Given the description of an element on the screen output the (x, y) to click on. 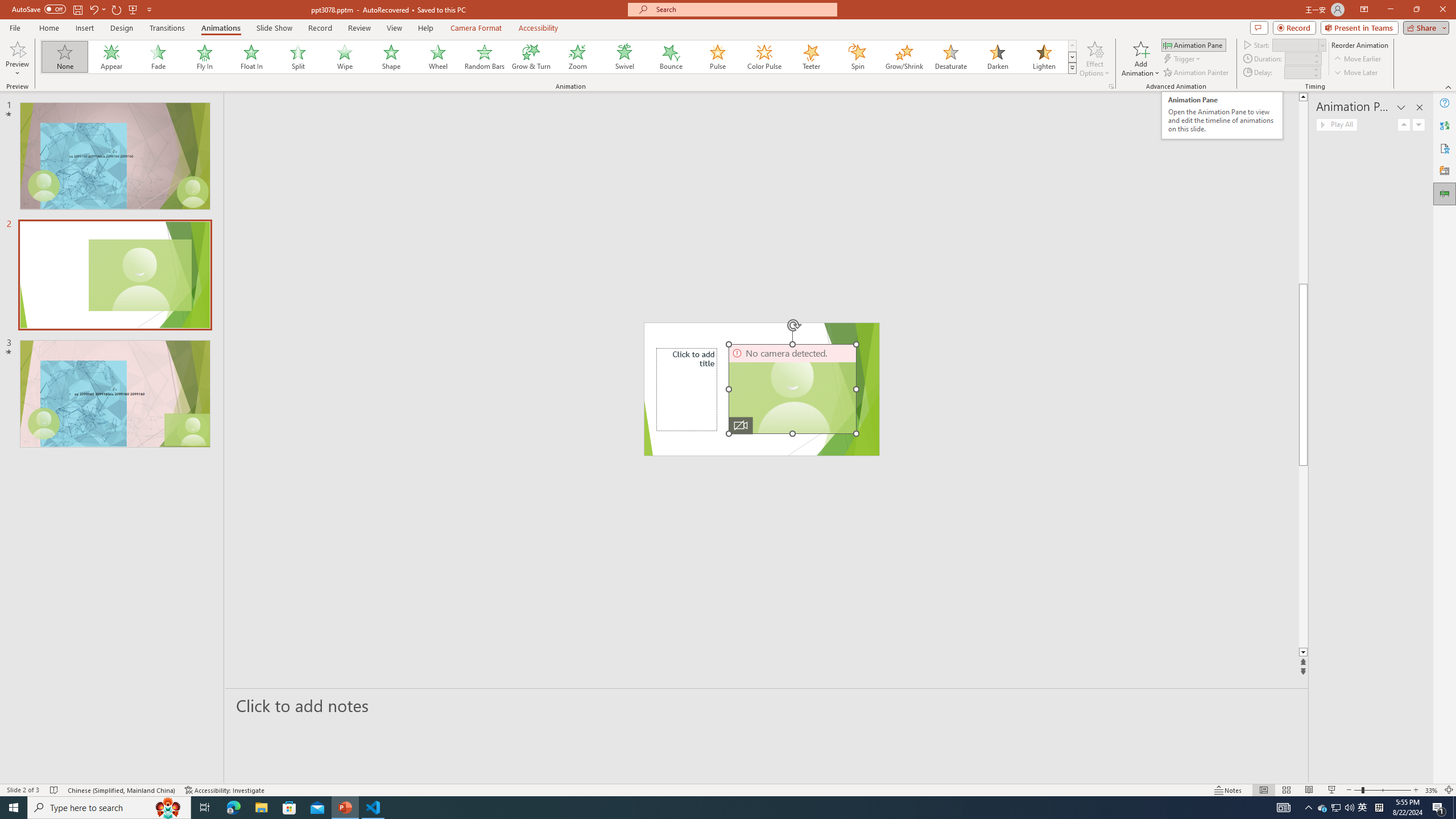
Float In (251, 56)
Animation Duration (1298, 58)
Animation Styles (1071, 67)
Desaturate (950, 56)
Grow & Turn (531, 56)
Animation Painter (1196, 72)
Wheel (437, 56)
